Given the description of an element on the screen output the (x, y) to click on. 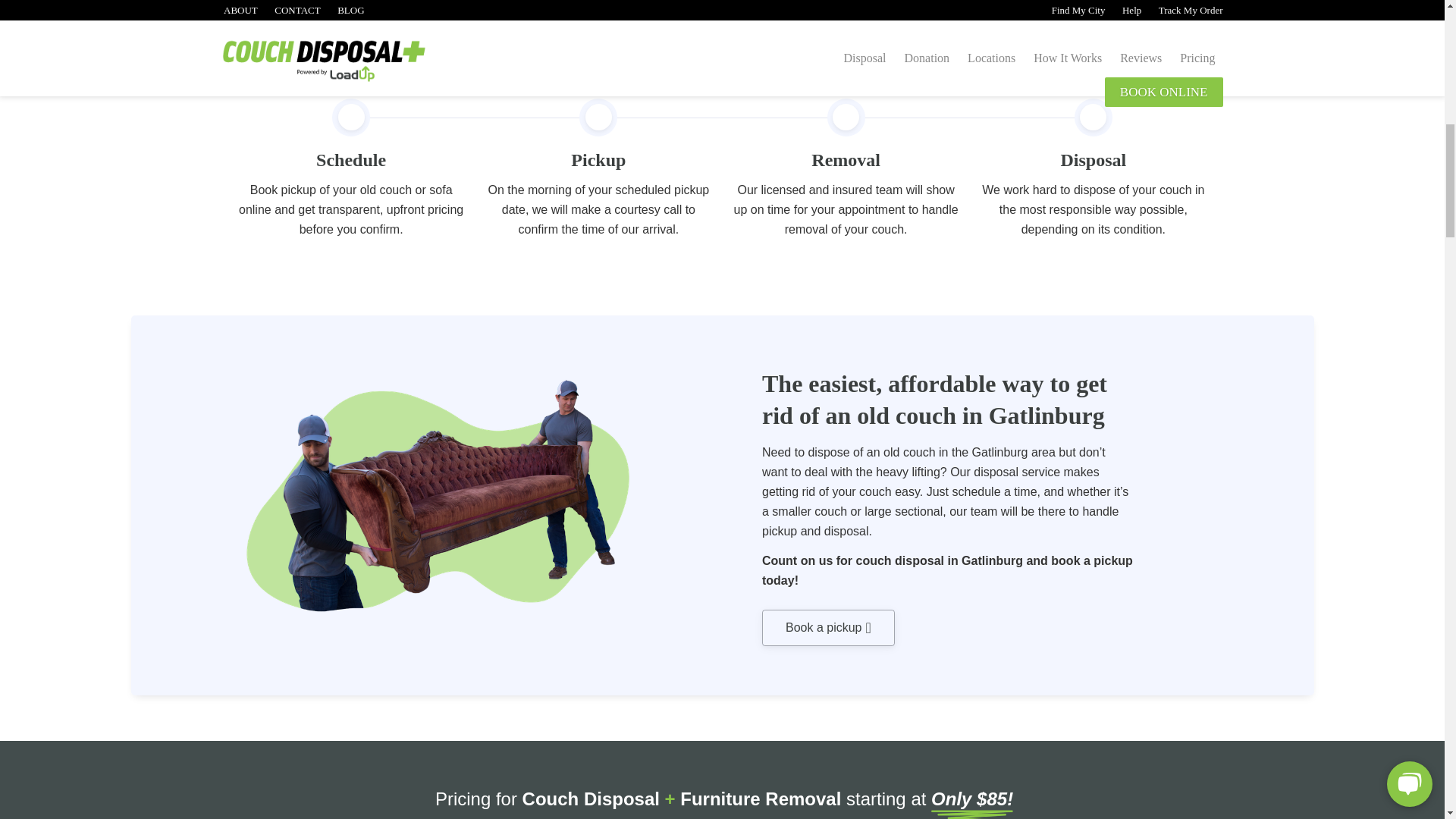
Book a pickup (828, 627)
Book couch disposal online (828, 627)
